Given the description of an element on the screen output the (x, y) to click on. 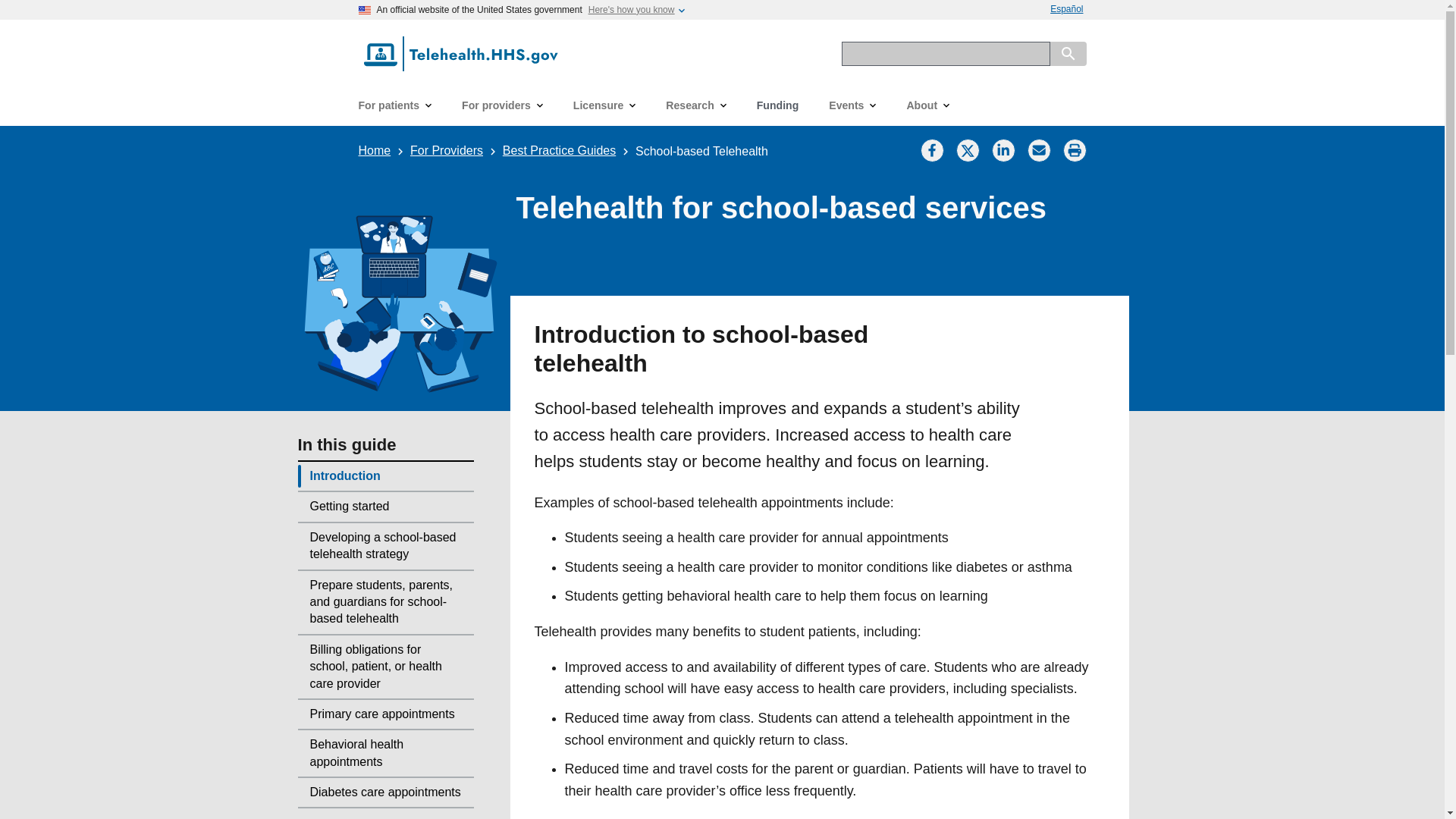
For Providers (446, 150)
Here's how you know (631, 9)
For patients (395, 104)
Home (374, 150)
Facebook (930, 149)
Developing a school-based telehealth strategy (385, 546)
For providers (501, 104)
Twitter (967, 149)
Print (1075, 149)
Email (1038, 149)
Behavioral health appointments (385, 753)
Funding (777, 104)
